Given the description of an element on the screen output the (x, y) to click on. 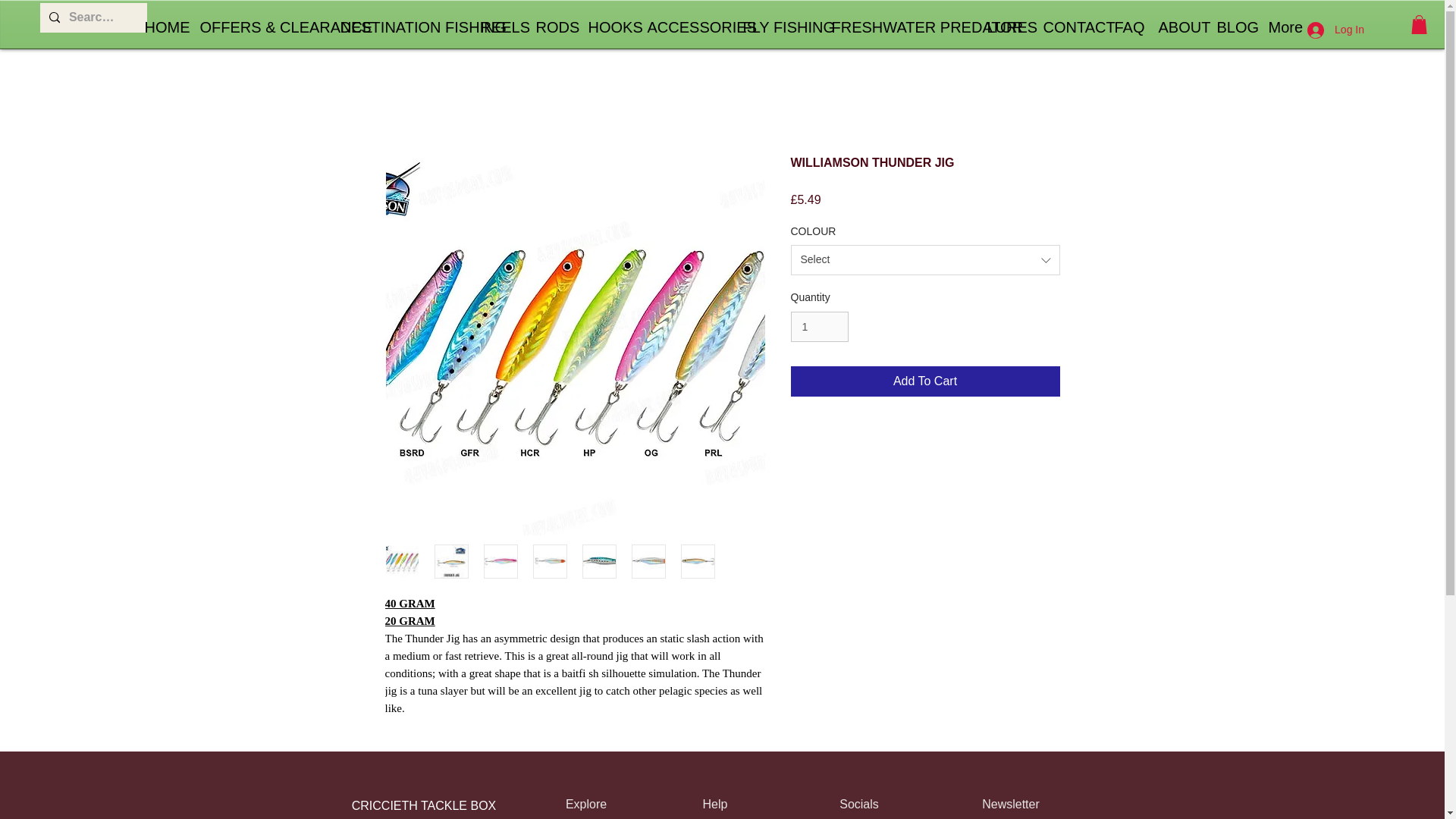
FRESHWATER PREDATOR (898, 27)
RODS (550, 27)
LURES (1002, 27)
1 (818, 327)
ACCESSORIES (682, 27)
REELS (496, 27)
DESTINATION FISHING (398, 27)
HOOKS (605, 27)
HOME (161, 27)
FLY FISHING (774, 27)
